Given the description of an element on the screen output the (x, y) to click on. 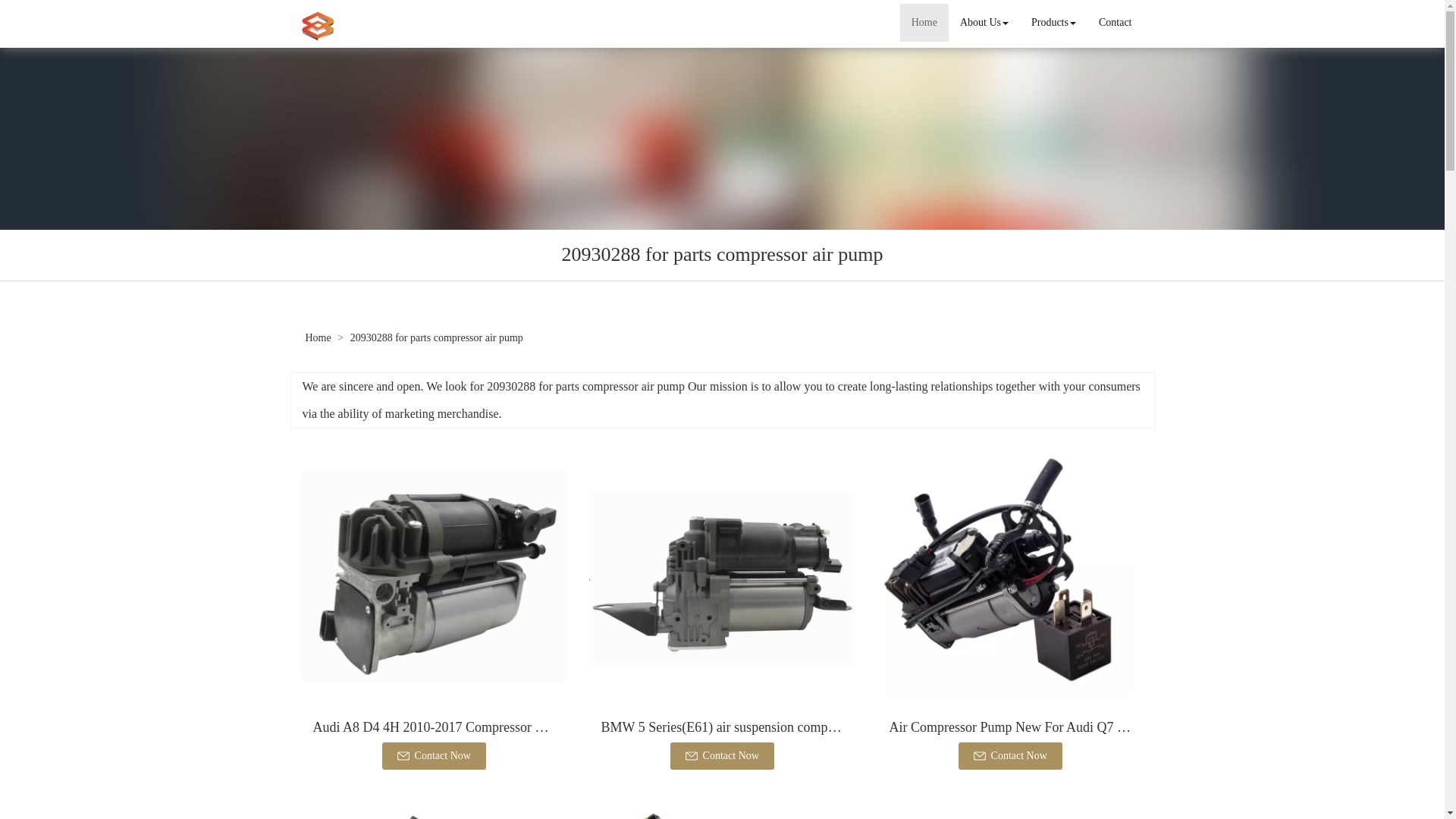
About Us (984, 22)
Home (924, 22)
Contact (1114, 22)
Products (1053, 22)
